Given the description of an element on the screen output the (x, y) to click on. 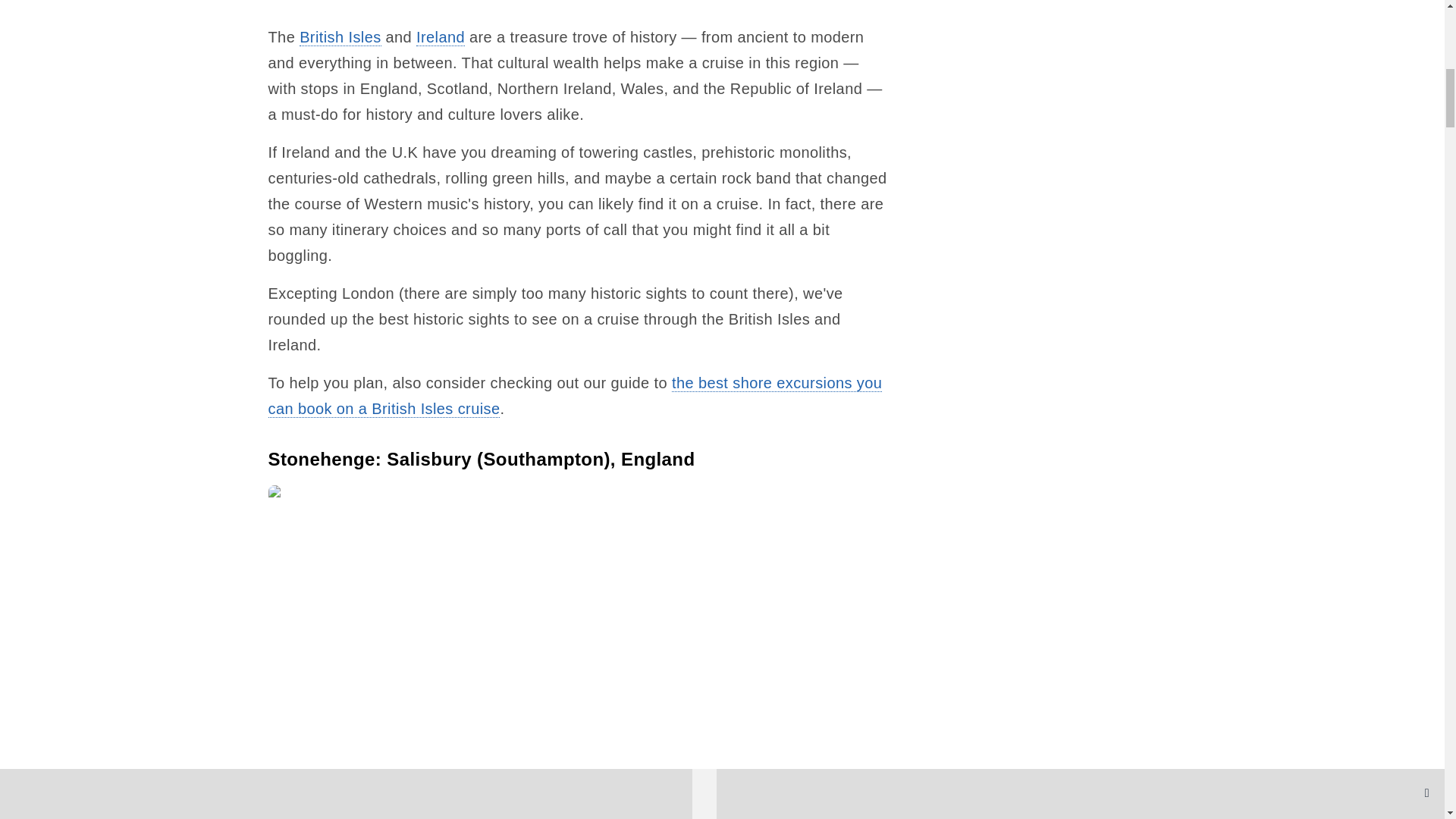
British Isles (339, 36)
Ireland (440, 36)
